Given the description of an element on the screen output the (x, y) to click on. 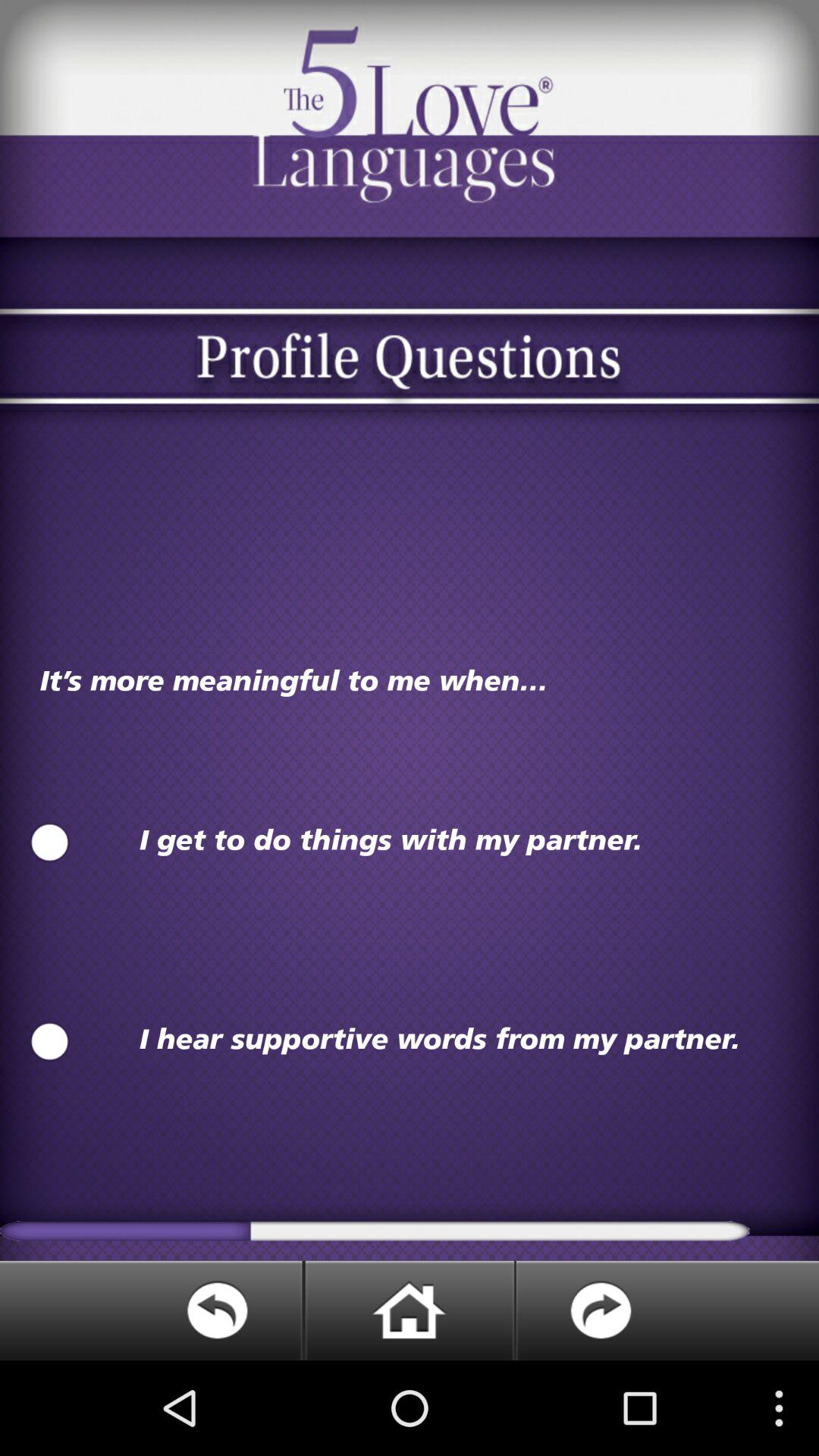
go back (151, 1310)
